Given the description of an element on the screen output the (x, y) to click on. 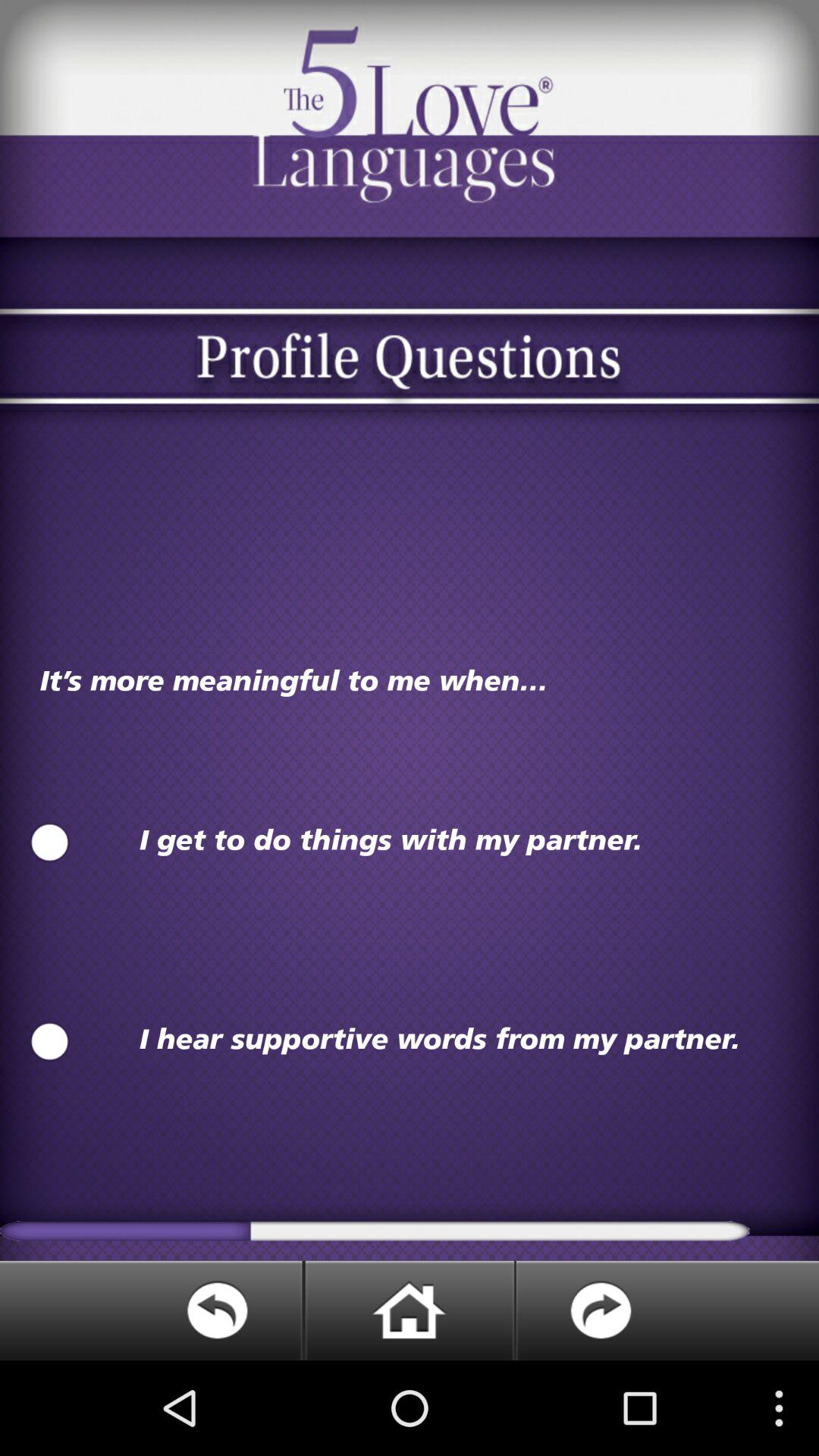
go back (151, 1310)
